Given the description of an element on the screen output the (x, y) to click on. 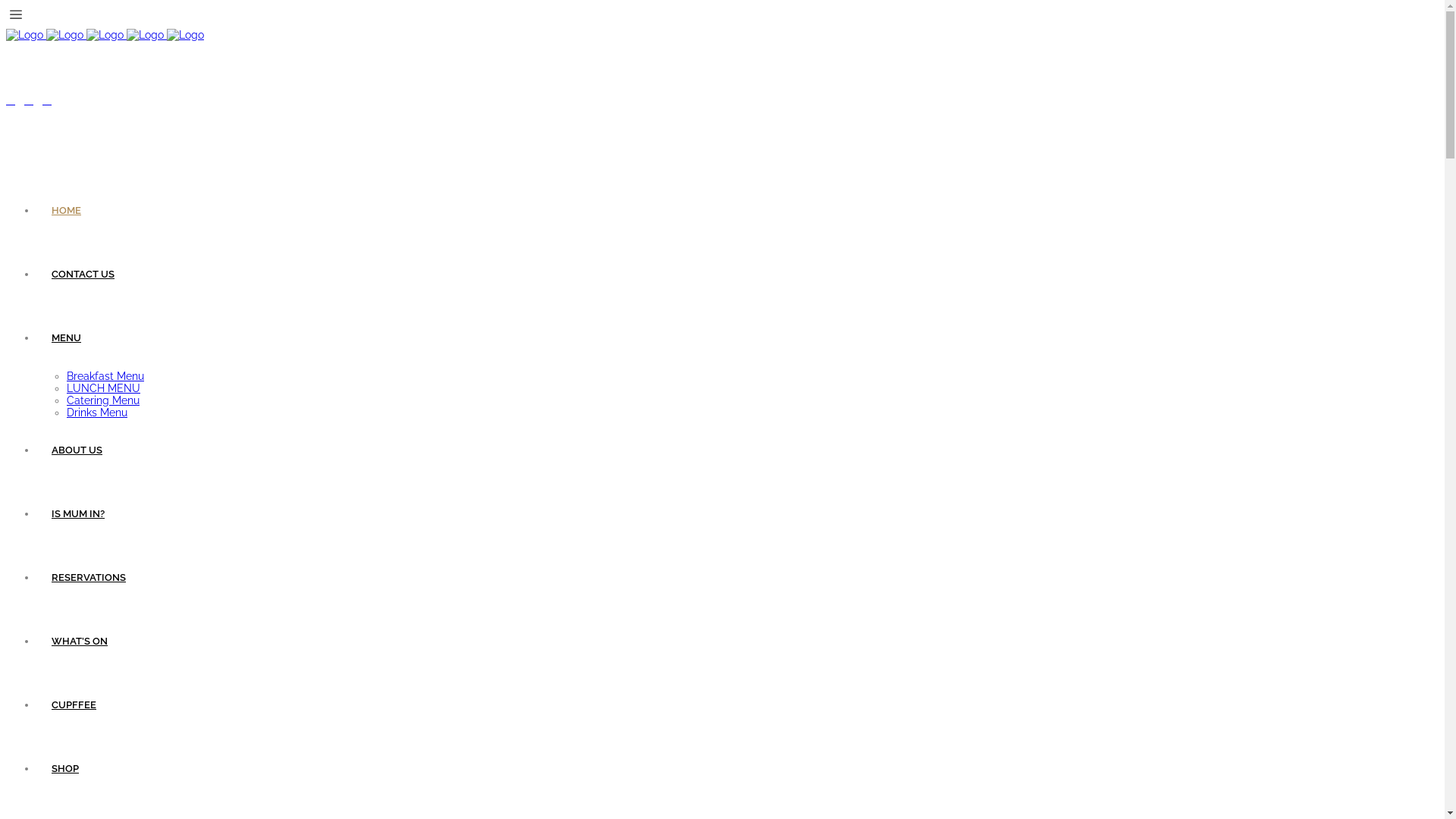
Catering Menu Element type: text (102, 400)
ABOUT US Element type: text (76, 449)
CUPFFEE Element type: text (73, 704)
IS MUM IN? Element type: text (77, 513)
CONTACT US Element type: text (82, 273)
LUNCH MENU Element type: text (103, 388)
Breakfast Menu Element type: text (105, 376)
RESERVATIONS Element type: text (88, 577)
Drinks Menu Element type: text (96, 412)
SHOP Element type: text (65, 768)
HOME Element type: text (66, 210)
MENU Element type: text (66, 337)
